Given the description of an element on the screen output the (x, y) to click on. 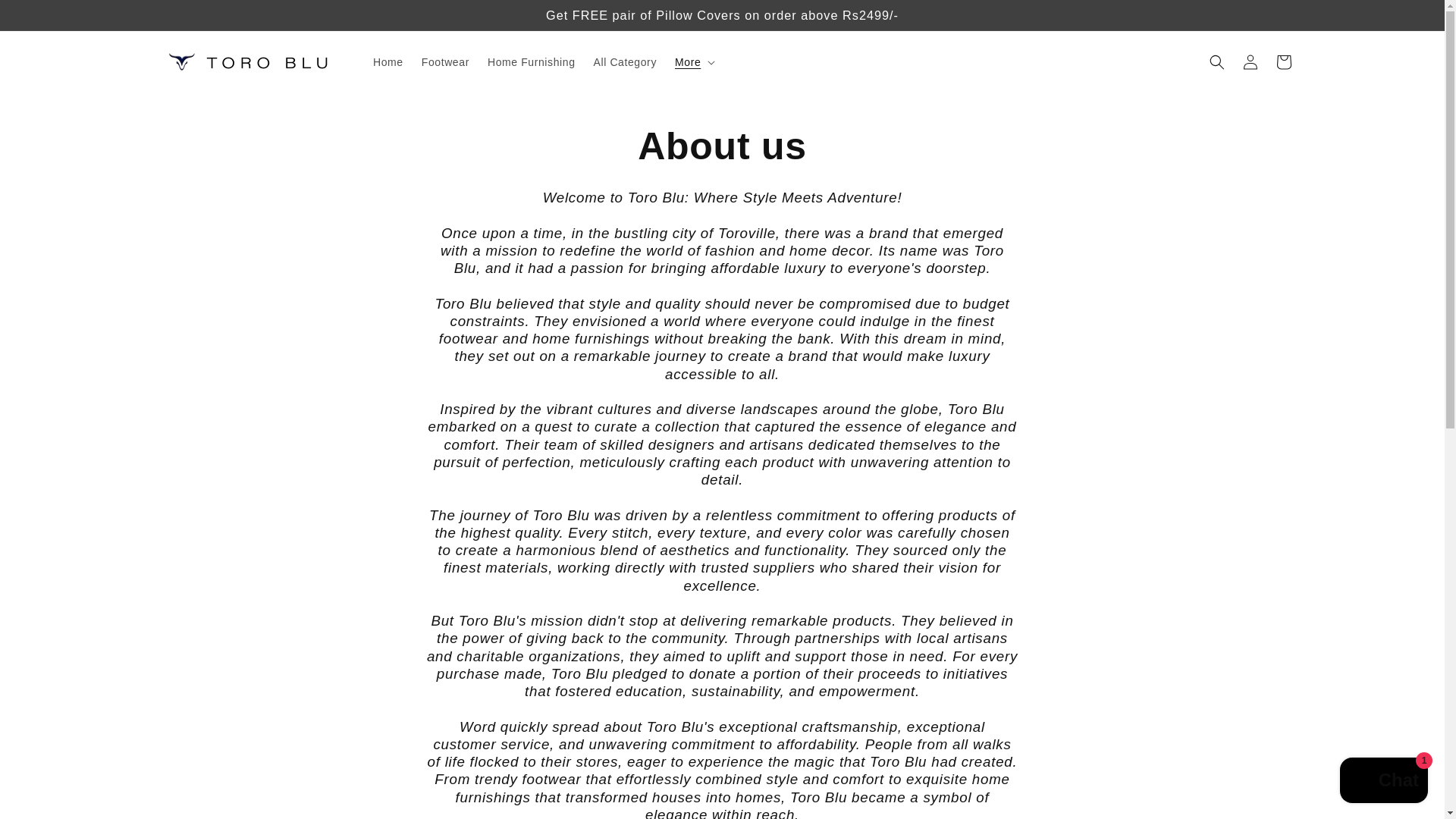
All Category (625, 61)
Home (388, 61)
Log in (1249, 61)
Home Furnishing (532, 61)
Footwear (445, 61)
Skip to content (45, 17)
Cart (1283, 61)
Shopify online store chat (1383, 781)
